Given the description of an element on the screen output the (x, y) to click on. 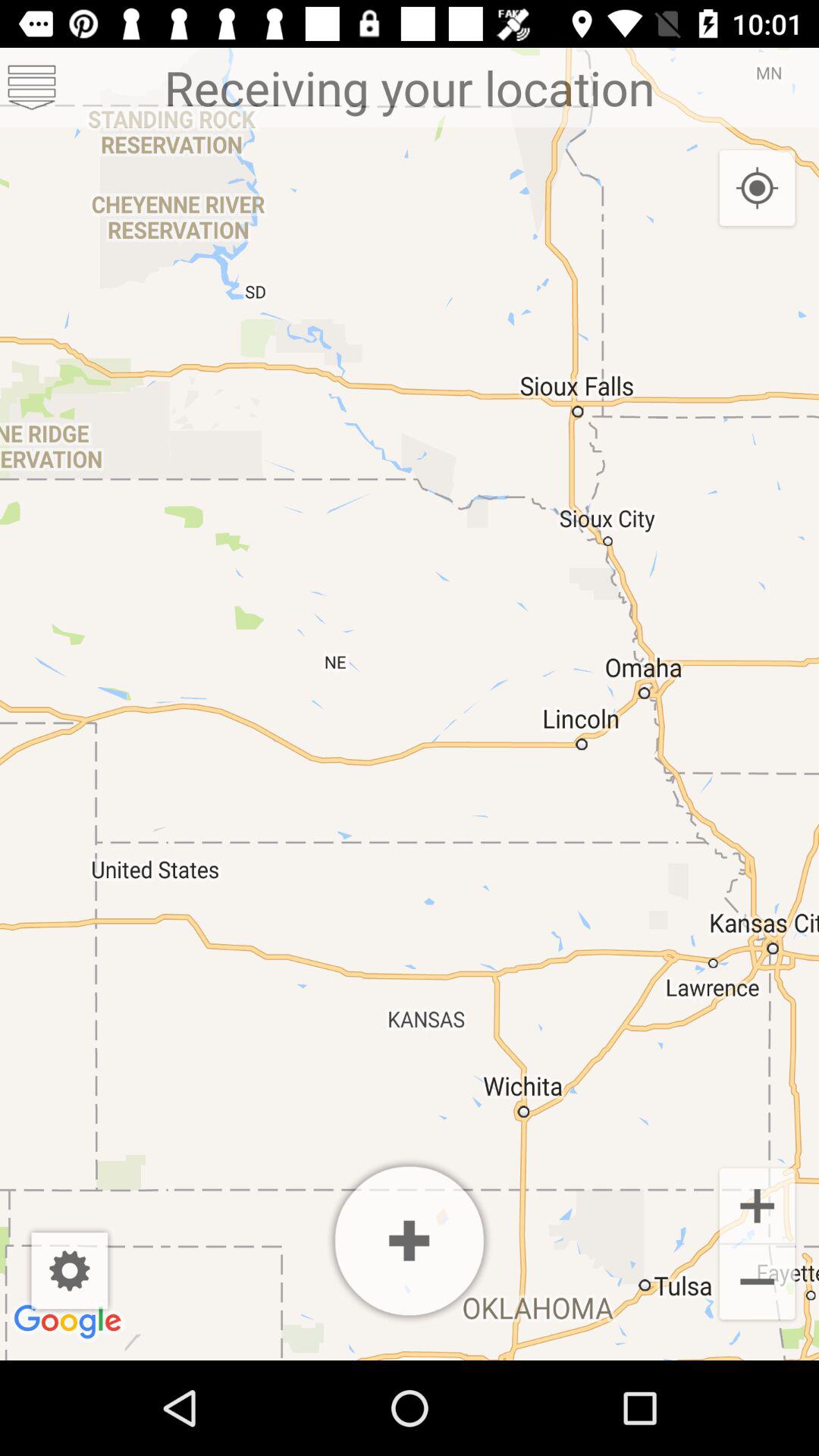
open app below the receiving your location icon (69, 1270)
